Given the description of an element on the screen output the (x, y) to click on. 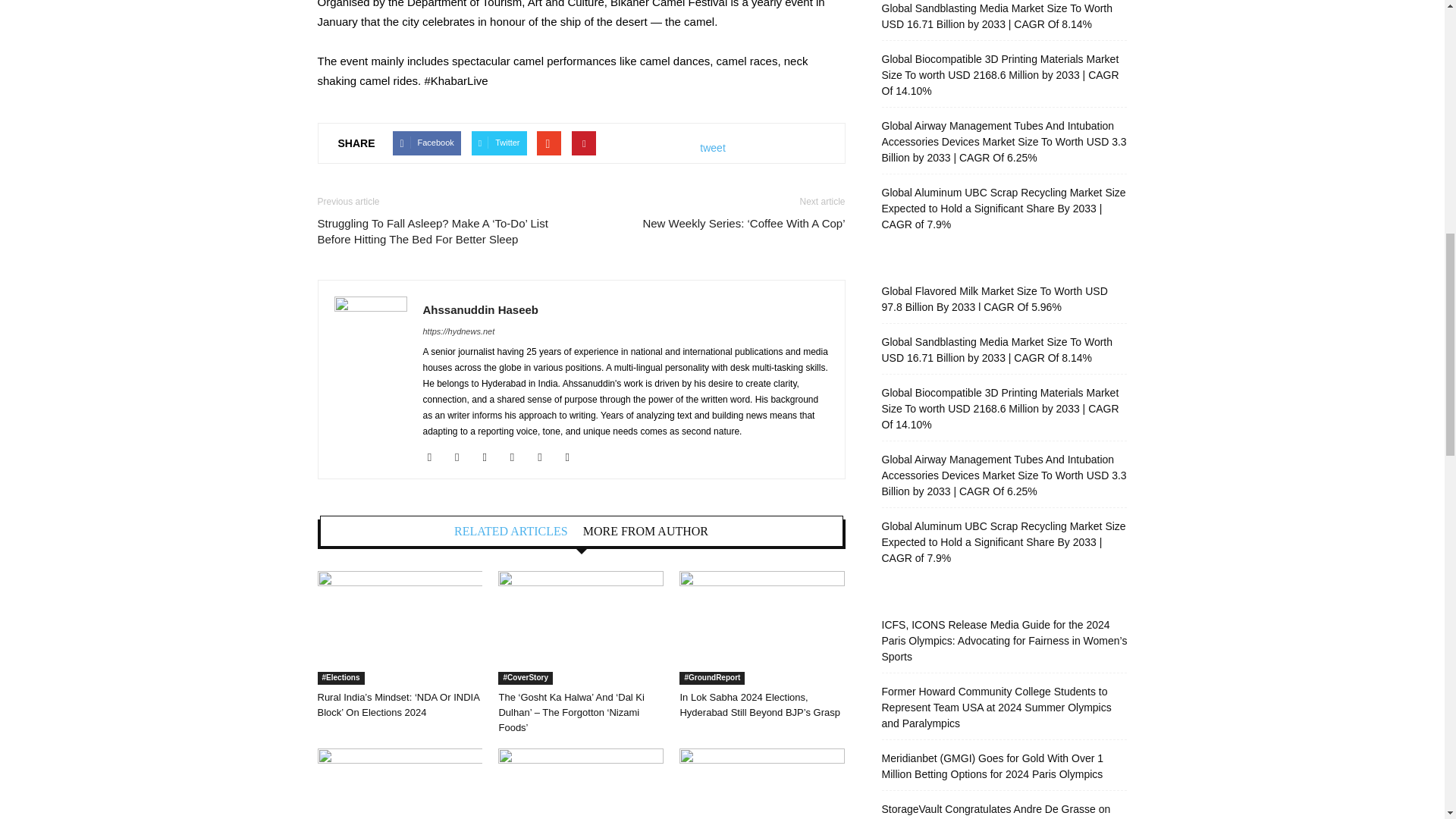
Blogger (435, 456)
Facebook (462, 456)
Instagram (489, 456)
